Given the description of an element on the screen output the (x, y) to click on. 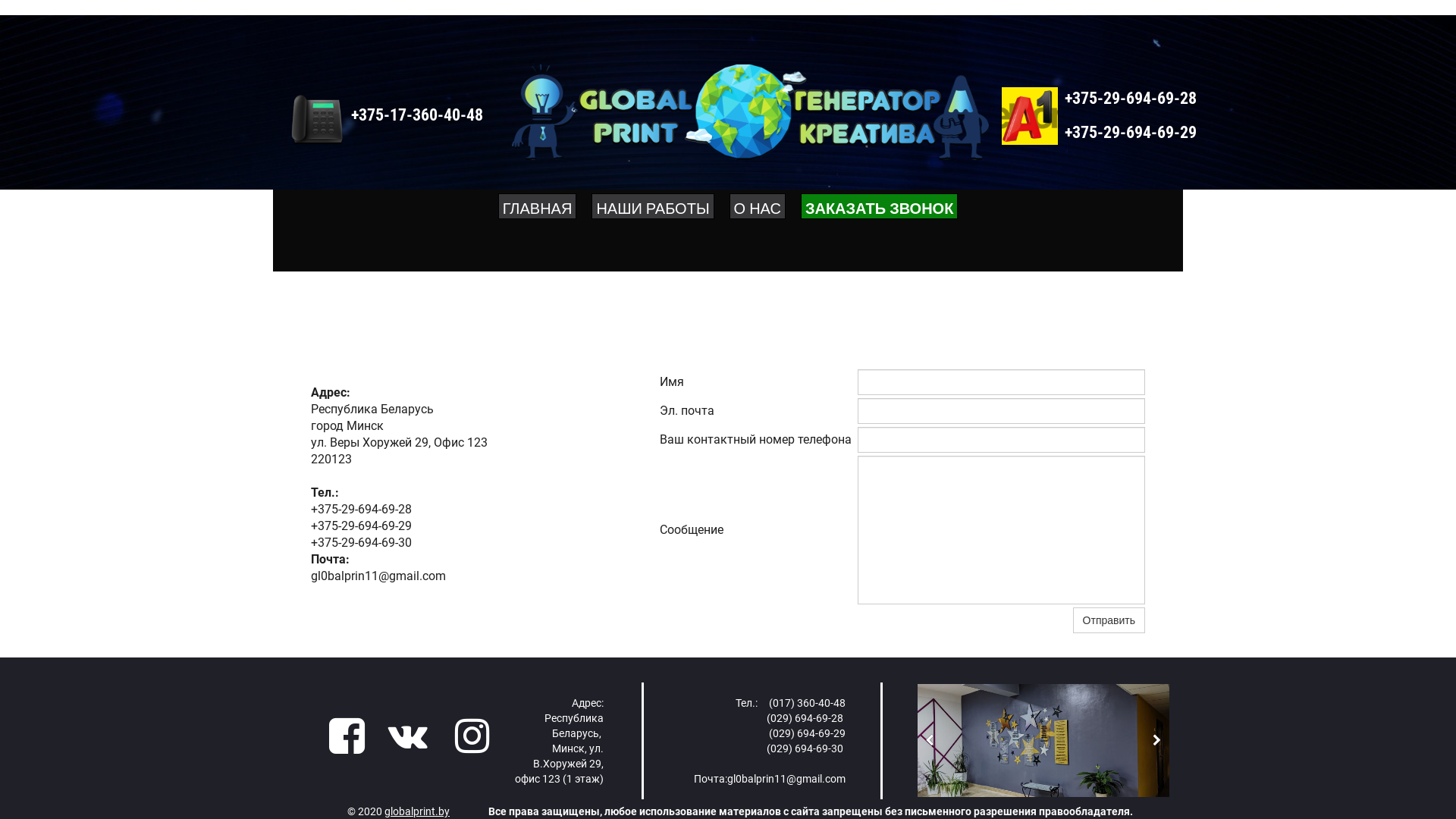
globalprint.by Element type: text (416, 811)
